Given the description of an element on the screen output the (x, y) to click on. 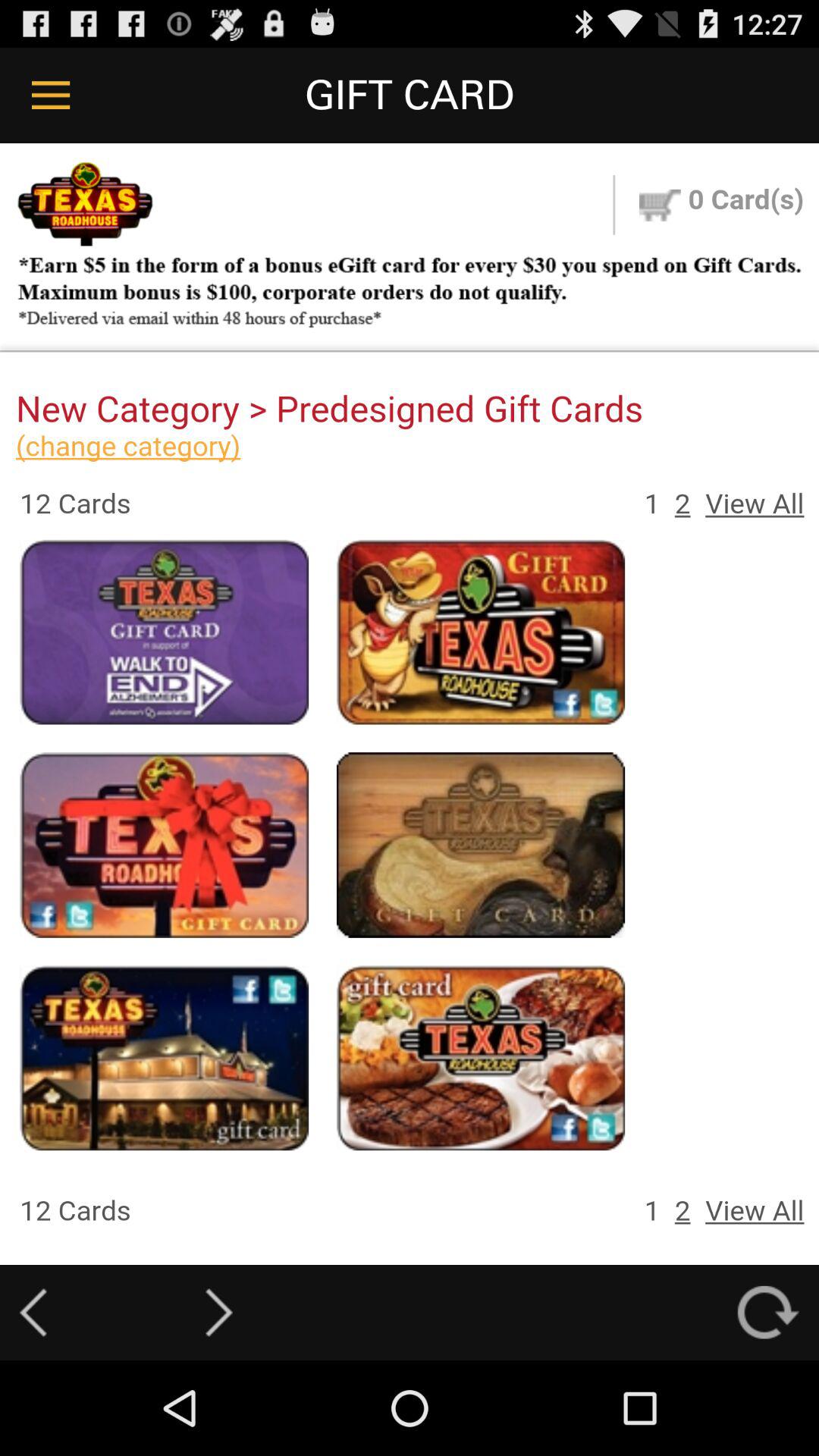
view for adivestment (409, 703)
